Given the description of an element on the screen output the (x, y) to click on. 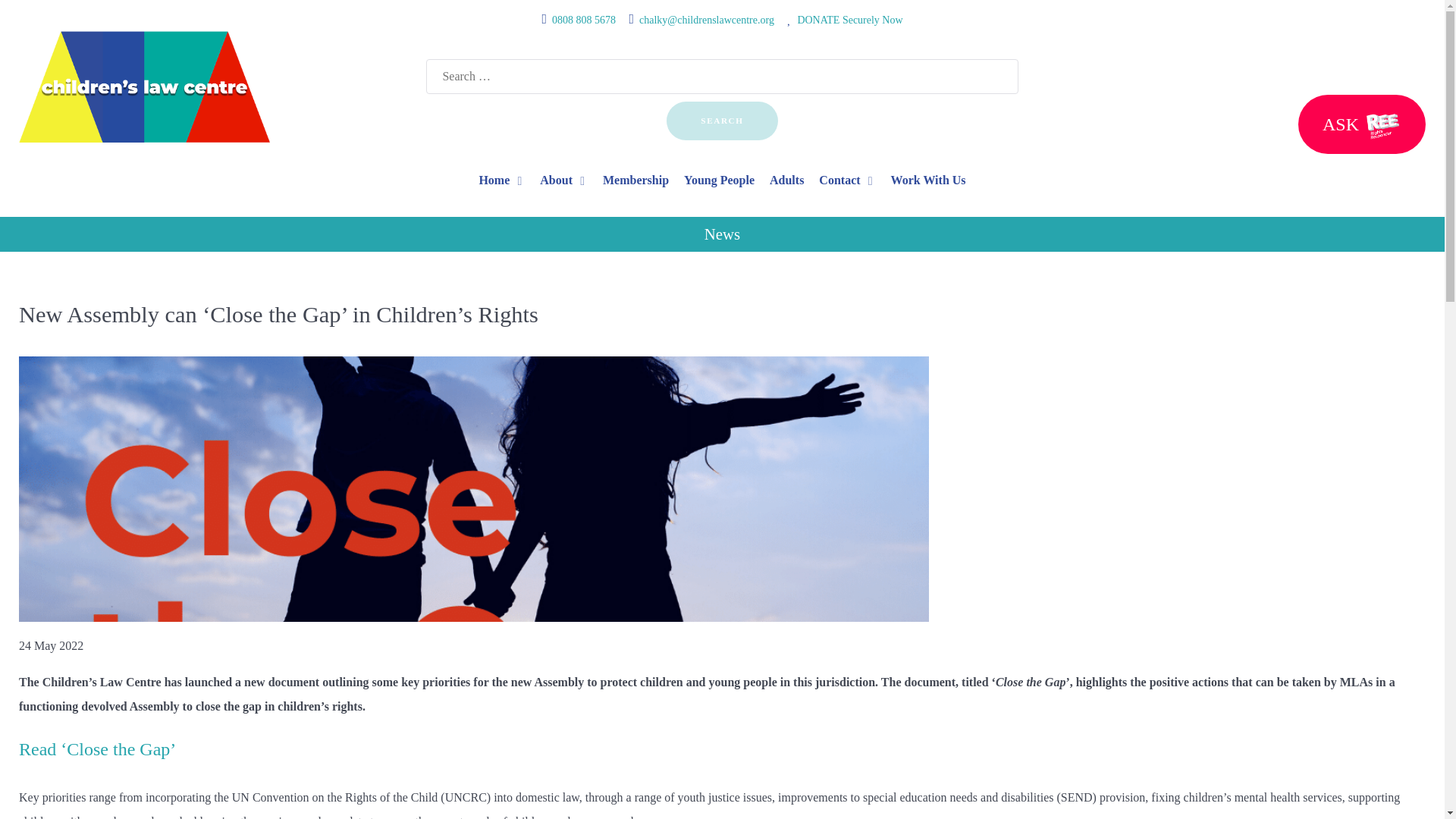
ASK (1361, 124)
DONATE Securely Now (849, 19)
Search (721, 120)
Adults (786, 181)
Search for: (721, 76)
Membership (635, 181)
Work With Us (928, 181)
Children's rights change children's lives (143, 84)
Home (501, 181)
0808 808 5678 (583, 19)
